Given the description of an element on the screen output the (x, y) to click on. 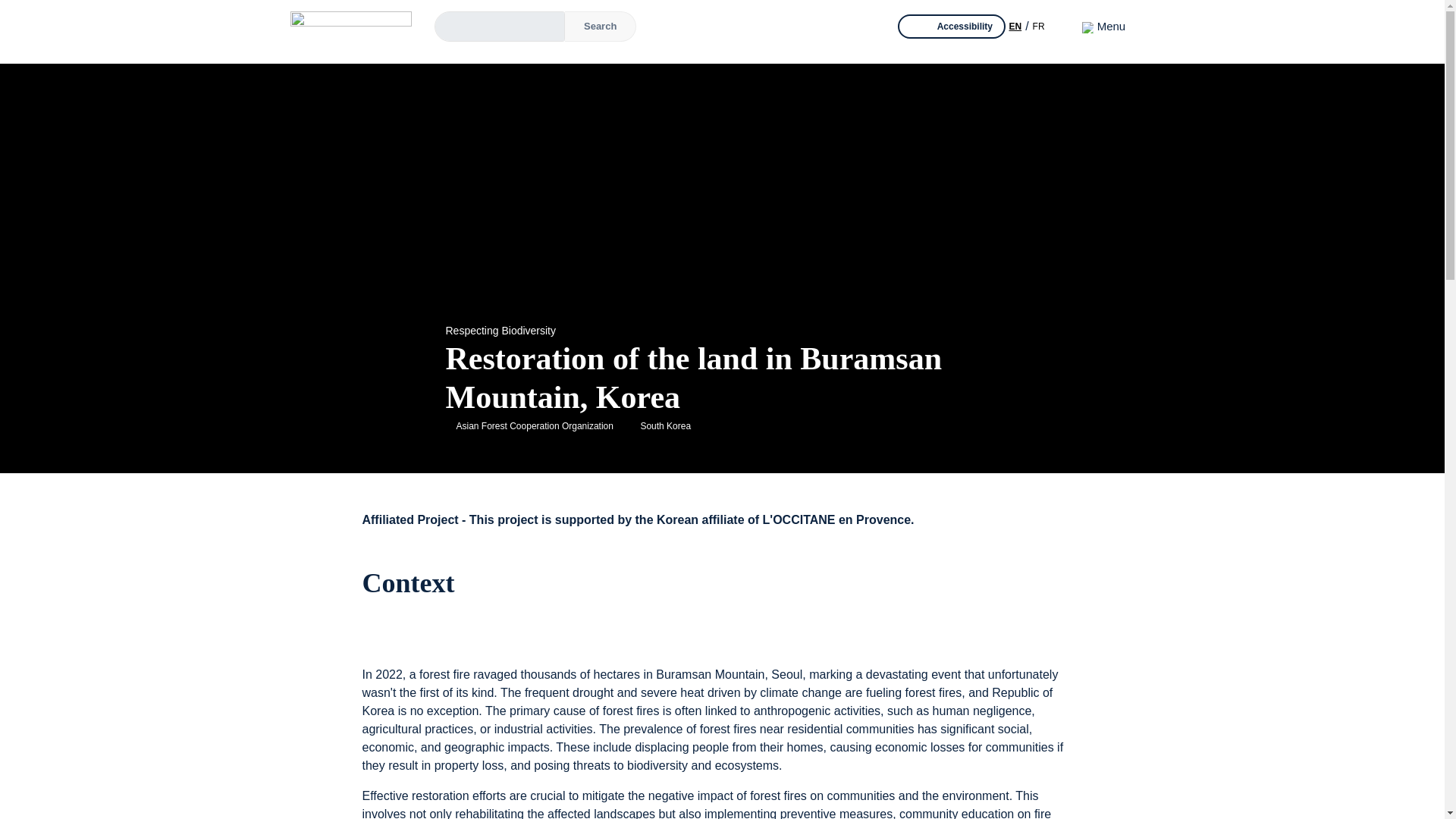
French version (1038, 26)
Accessibility options (952, 26)
Respecting Biodiversity (481, 330)
Back to Respecting Biodiversity (481, 330)
View all projects  Asian Forest Cooperation Organization (534, 425)
Search (600, 26)
South Korea (665, 425)
L'OCCITANE Foundation (349, 25)
Menu (1103, 25)
Submit site search (600, 26)
